Given the description of an element on the screen output the (x, y) to click on. 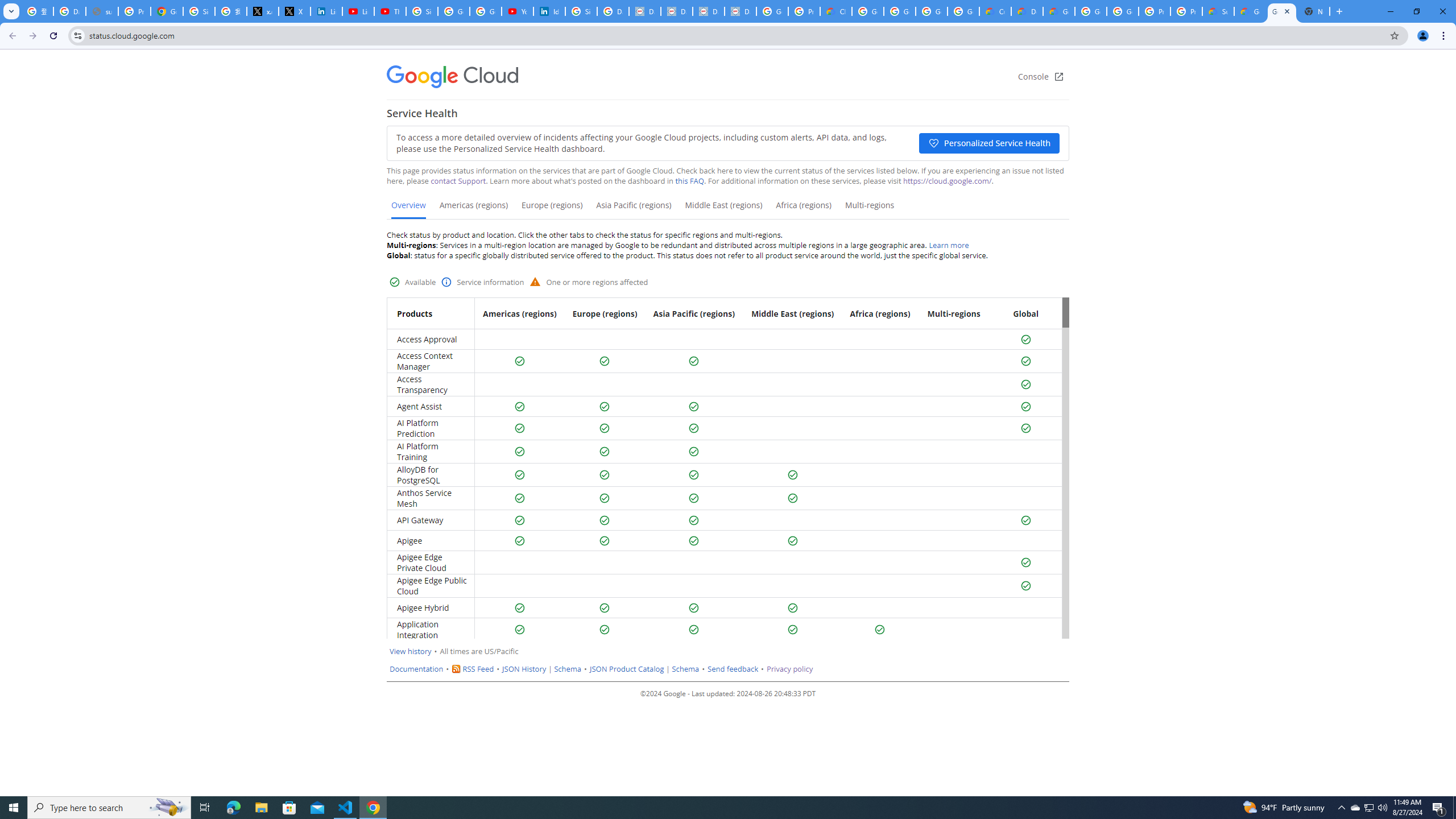
Google Cloud Service Health (1281, 11)
View history (410, 651)
Middle East (regions) (723, 209)
Google Workspace - Specific Terms (963, 11)
New Tab (1313, 11)
Google Cloud Platform (1123, 11)
support.google.com - Network error (101, 11)
this FAQ (689, 181)
Sign in - Google Accounts (581, 11)
